Given the description of an element on the screen output the (x, y) to click on. 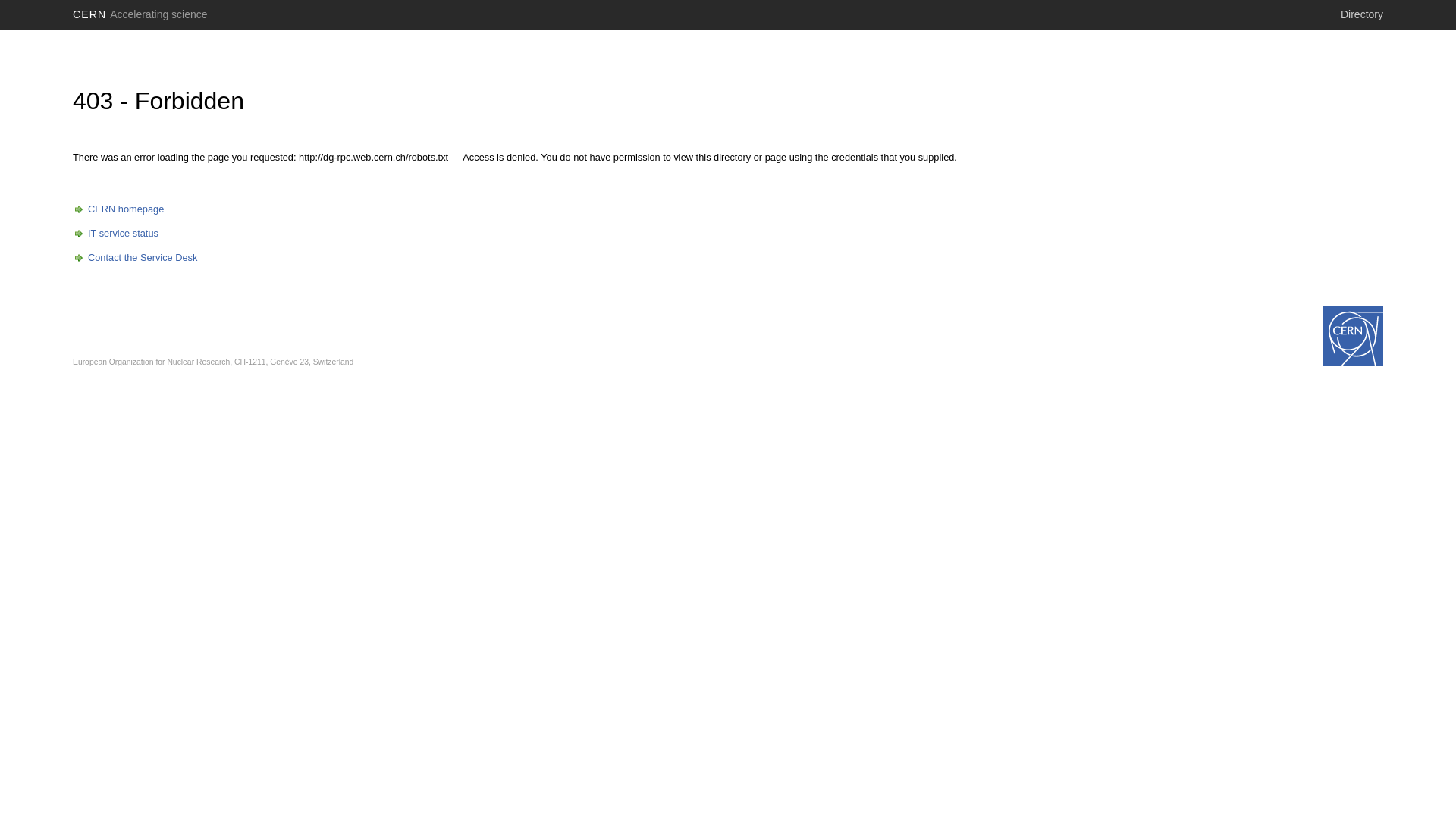
CERN Accelerating science Element type: text (139, 14)
Directory Element type: text (1361, 14)
www.cern.ch Element type: hover (1352, 335)
Contact the Service Desk Element type: text (134, 257)
CERN homepage Element type: text (117, 208)
IT service status Element type: text (115, 232)
